Given the description of an element on the screen output the (x, y) to click on. 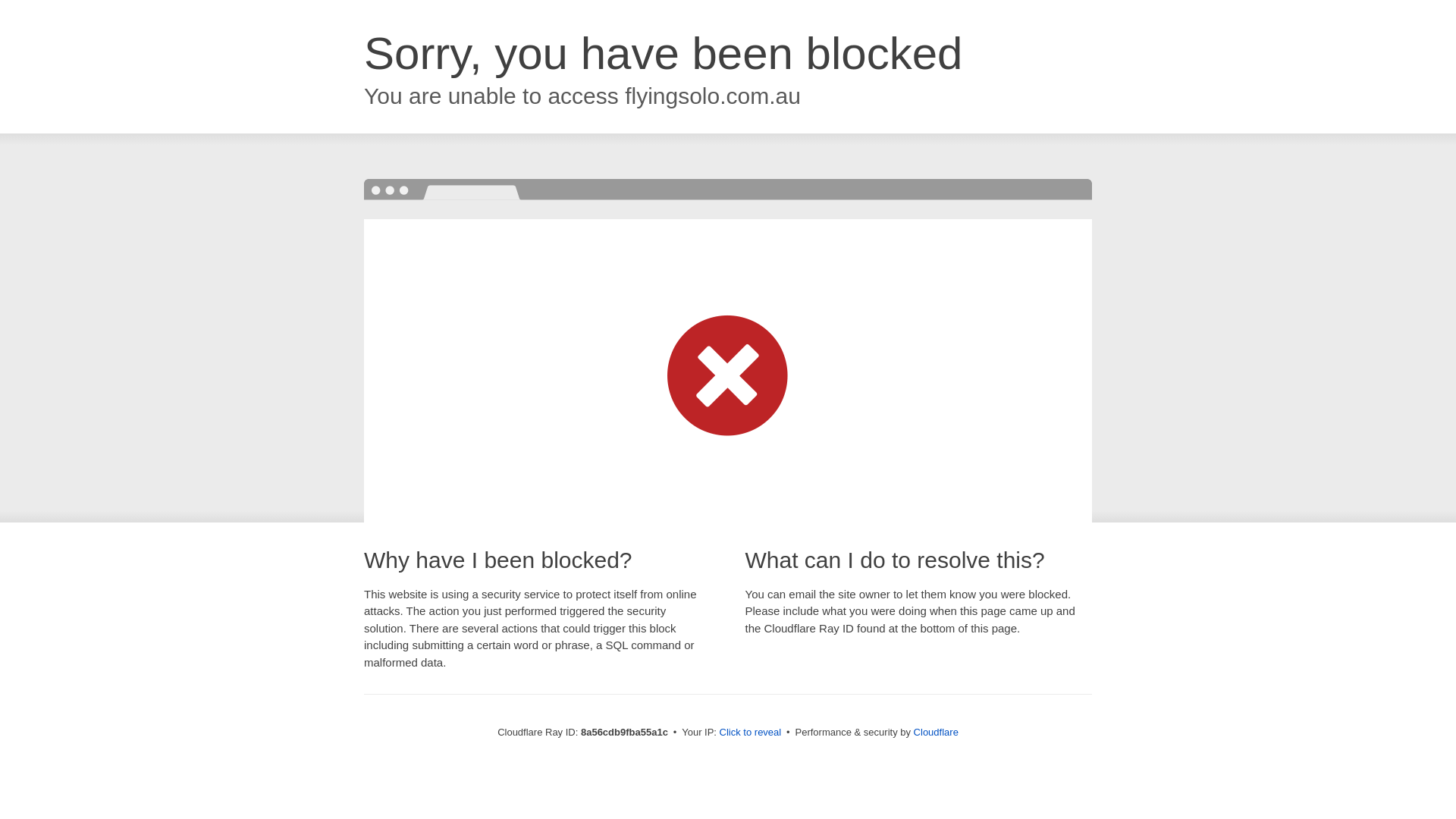
Click to reveal (750, 732)
Cloudflare (936, 731)
